Given the description of an element on the screen output the (x, y) to click on. 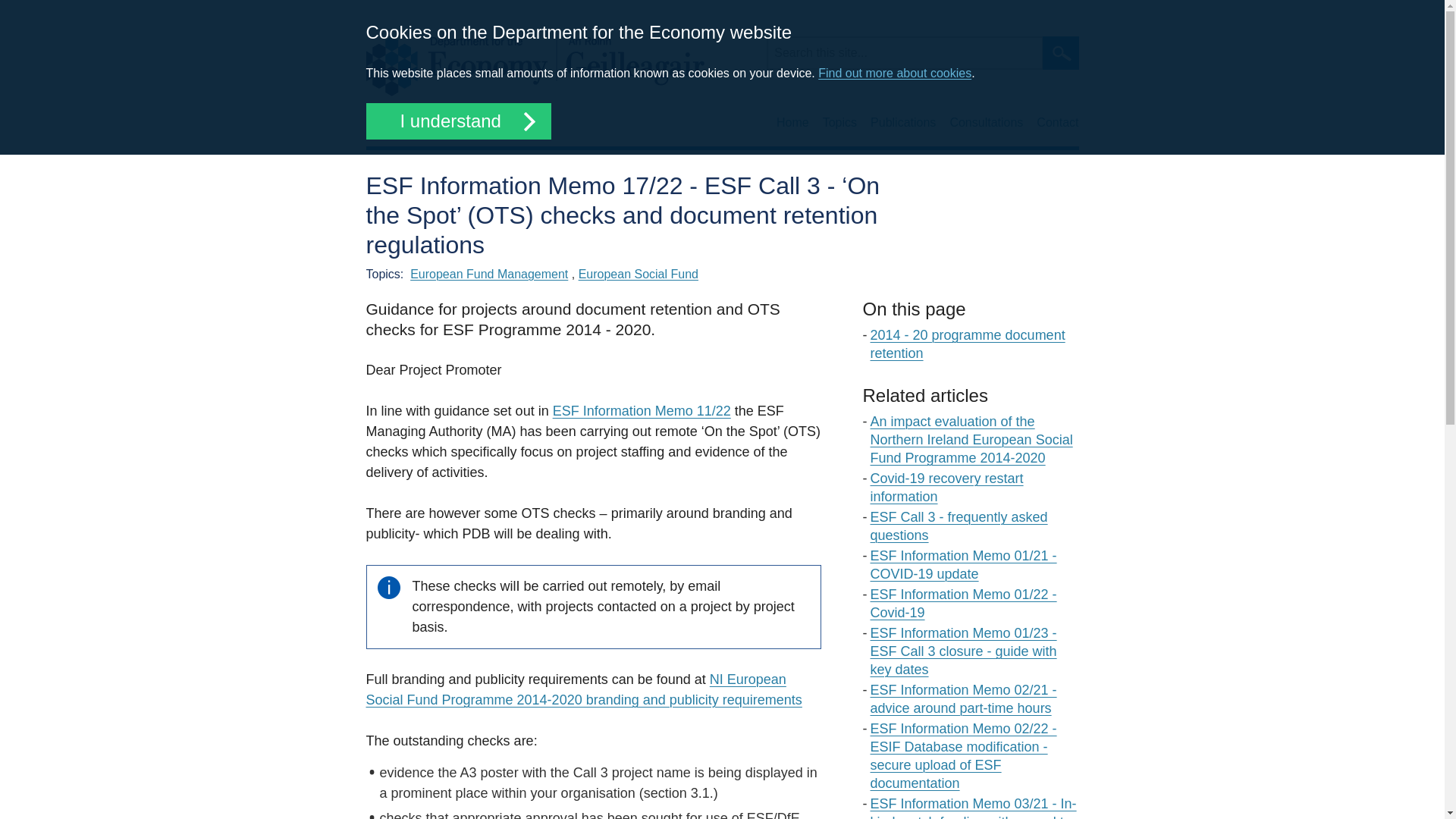
European Fund Management (488, 273)
Home (534, 67)
Enter the terms you wish to search for (904, 52)
Covid-19 recovery restart information (946, 487)
Topics (839, 122)
I understand (457, 121)
Publications (903, 122)
ESF Call 3 - frequently asked questions (959, 525)
Search (1060, 52)
European Social Fund (638, 273)
2014 - 20 programme document retention (967, 344)
Contact (1057, 122)
